Given the description of an element on the screen output the (x, y) to click on. 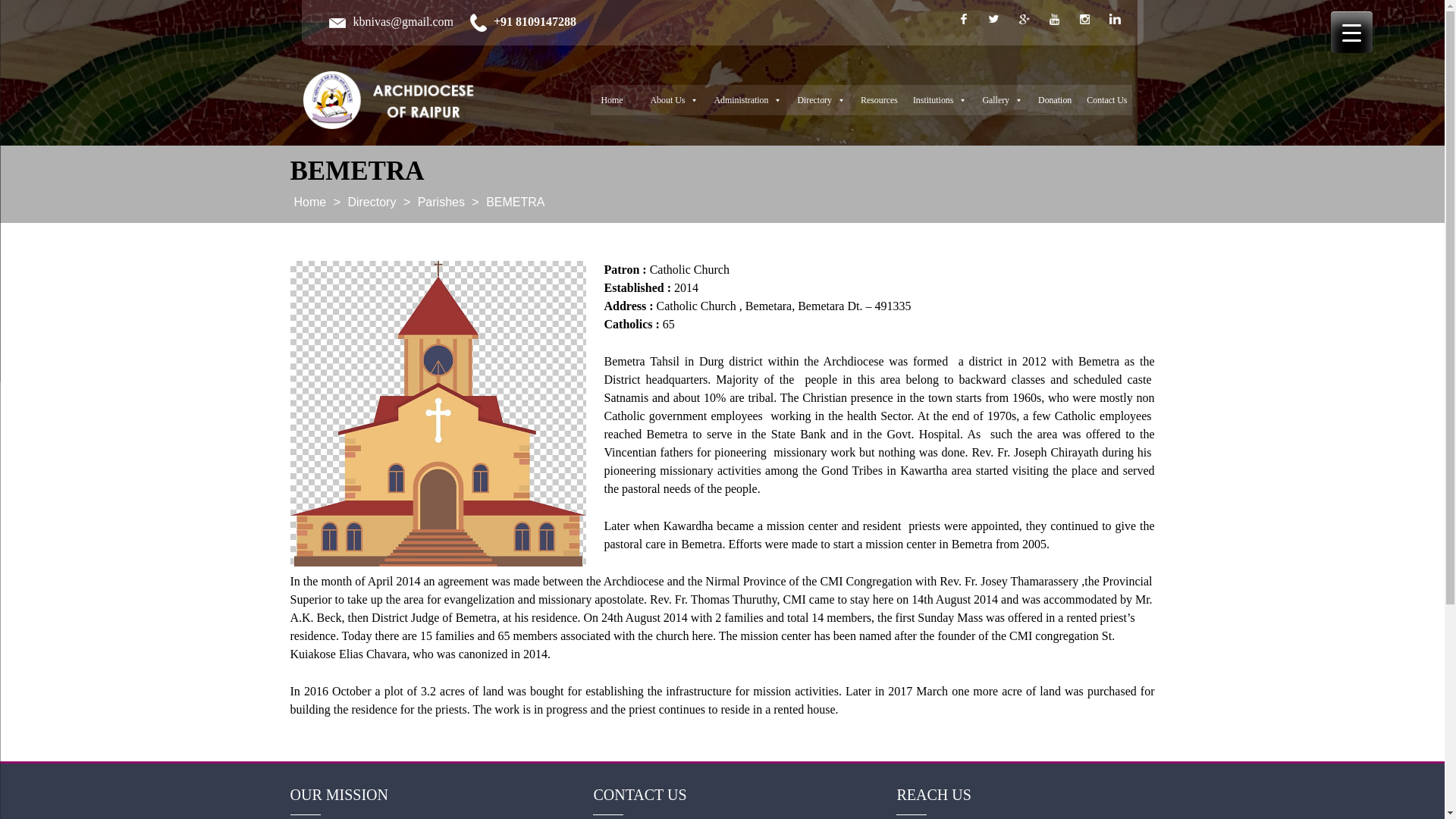
Administration (744, 100)
Home (615, 100)
About Us (671, 100)
youtube-link (1053, 19)
facebook (962, 19)
twitter (993, 19)
linkedin (1114, 19)
Resources (876, 100)
instagram-link (1083, 19)
google-plus (1024, 19)
Directory (818, 100)
